Given the description of an element on the screen output the (x, y) to click on. 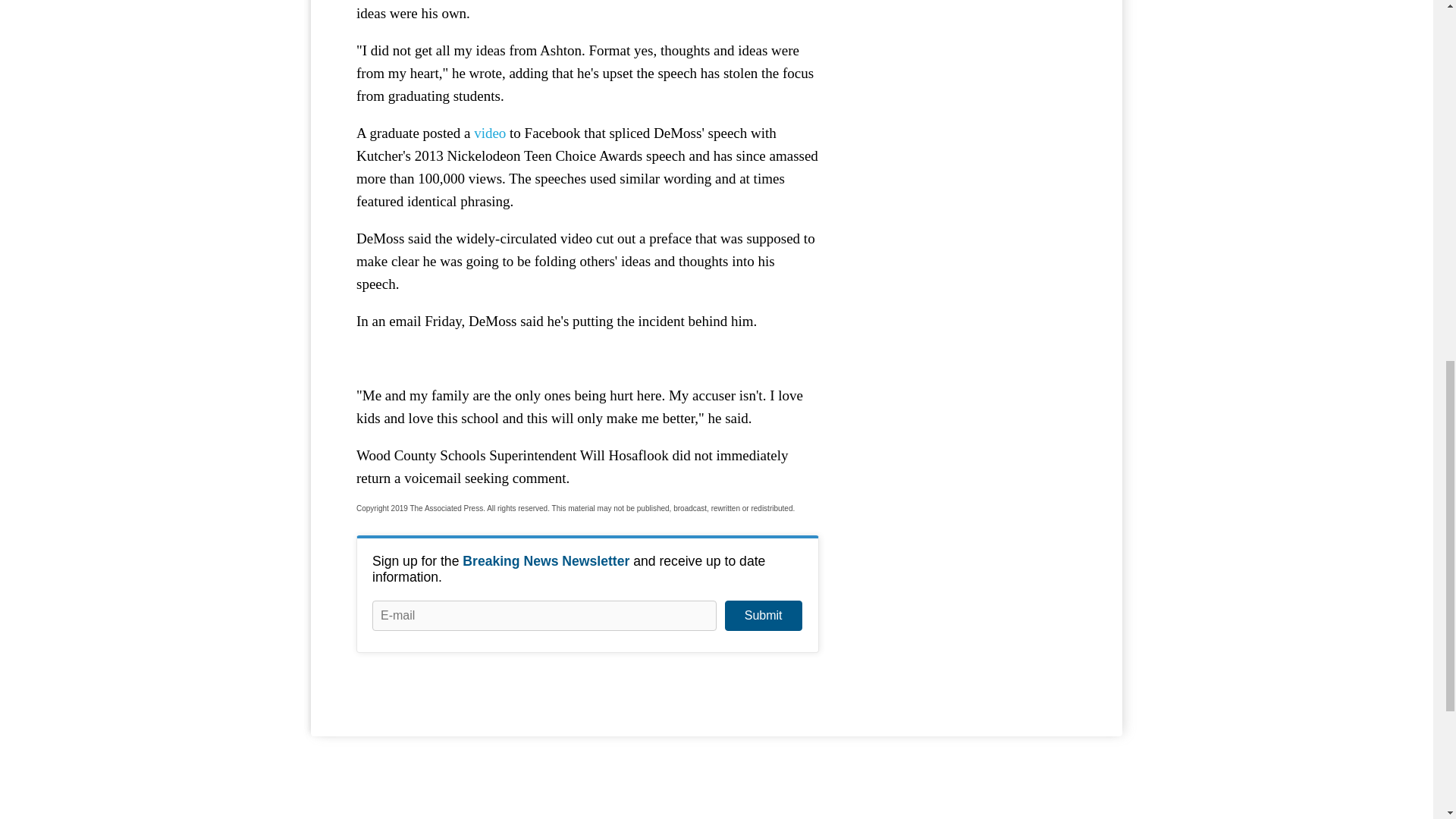
Submit (763, 615)
